Given the description of an element on the screen output the (x, y) to click on. 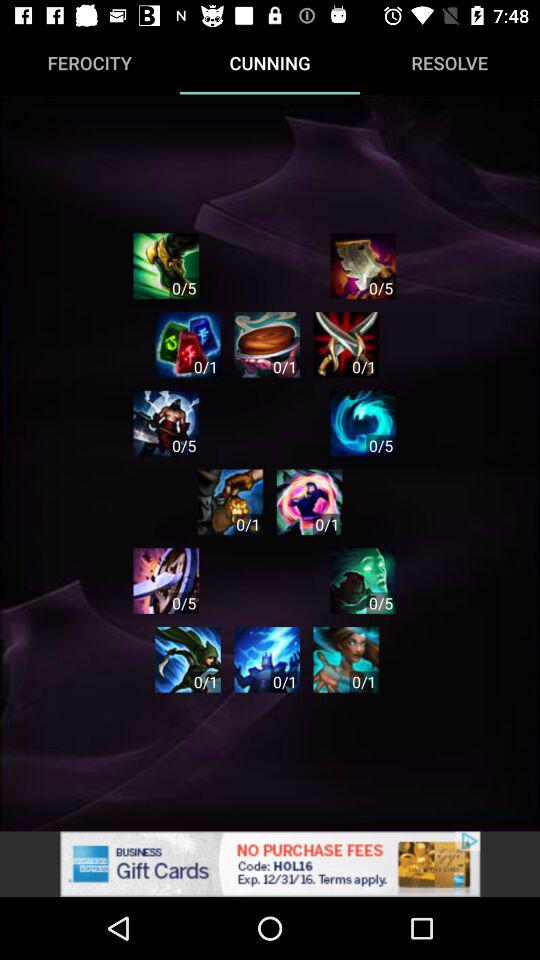
click to enter the game (166, 423)
